Given the description of an element on the screen output the (x, y) to click on. 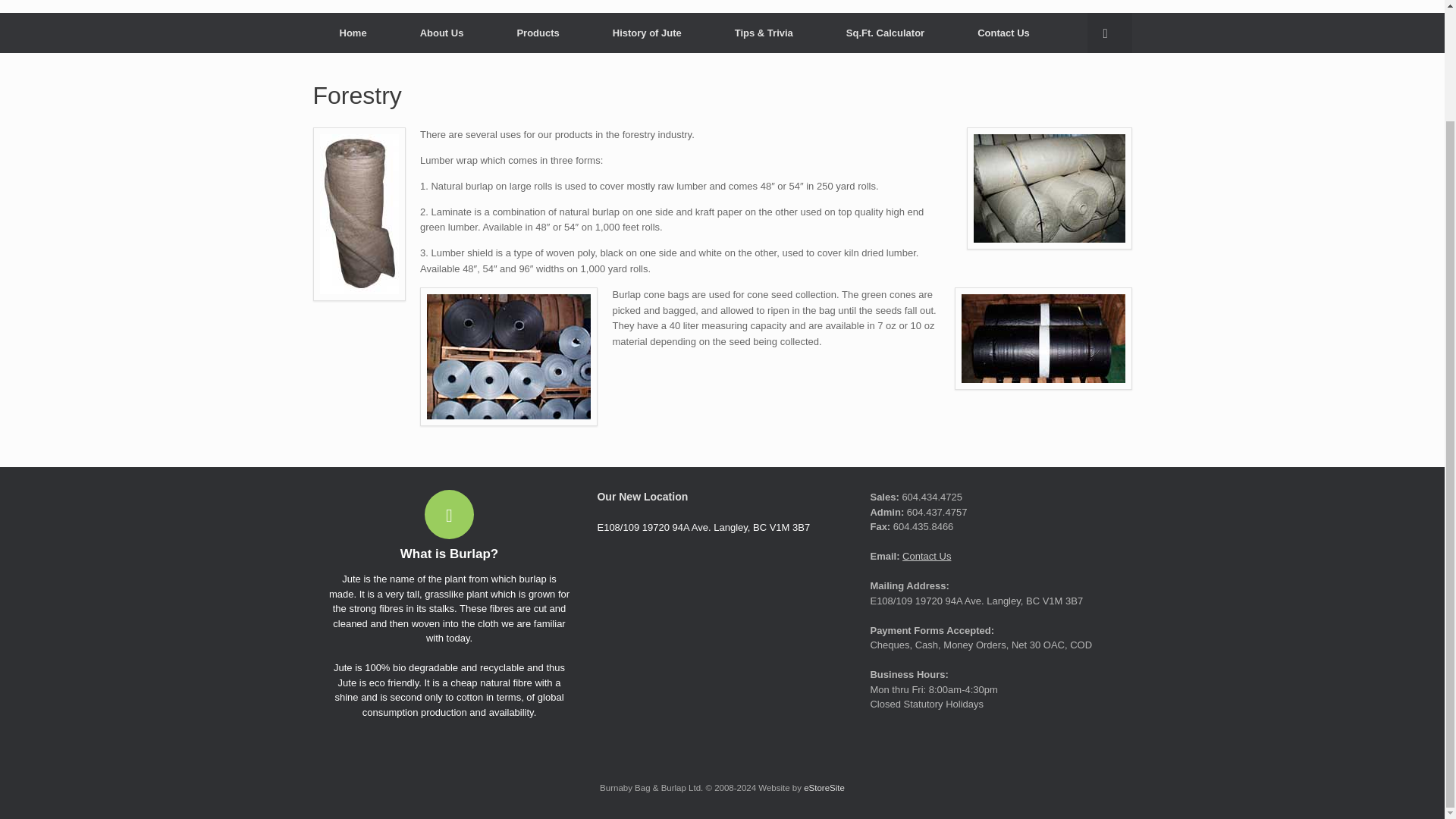
eStoreSite (823, 787)
Home (353, 33)
Products (537, 33)
Contact Us (1003, 33)
History of Jute (646, 33)
Contact Us (926, 555)
About Us (441, 33)
eStoreSite Web Design (823, 787)
Sq.Ft. Calculator (884, 33)
